Given the description of an element on the screen output the (x, y) to click on. 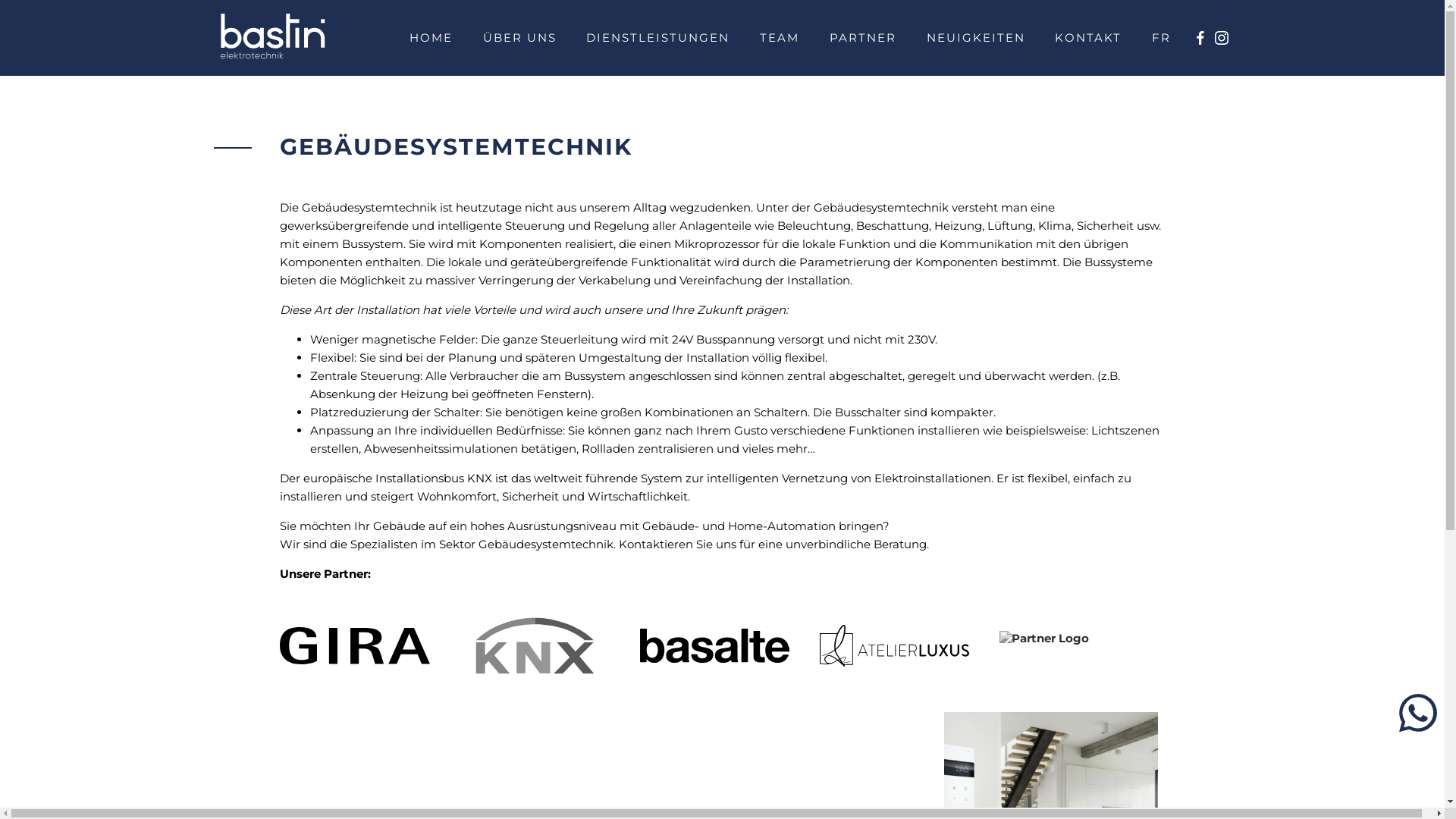
KONTAKT Element type: text (1087, 37)
Bastin Elektrotechnik auf Facebook Element type: hover (1200, 37)
HOME Element type: text (430, 37)
NEUIGKEITEN Element type: text (975, 37)
TEAM Element type: text (779, 37)
DIENSTLEISTUNGEN Element type: text (657, 37)
PARTNER Element type: text (862, 37)
Logo Element type: hover (272, 37)
Bastin Elektrotechnik auf Instagram Element type: hover (1221, 37)
FR Element type: text (1160, 37)
